Given the description of an element on the screen output the (x, y) to click on. 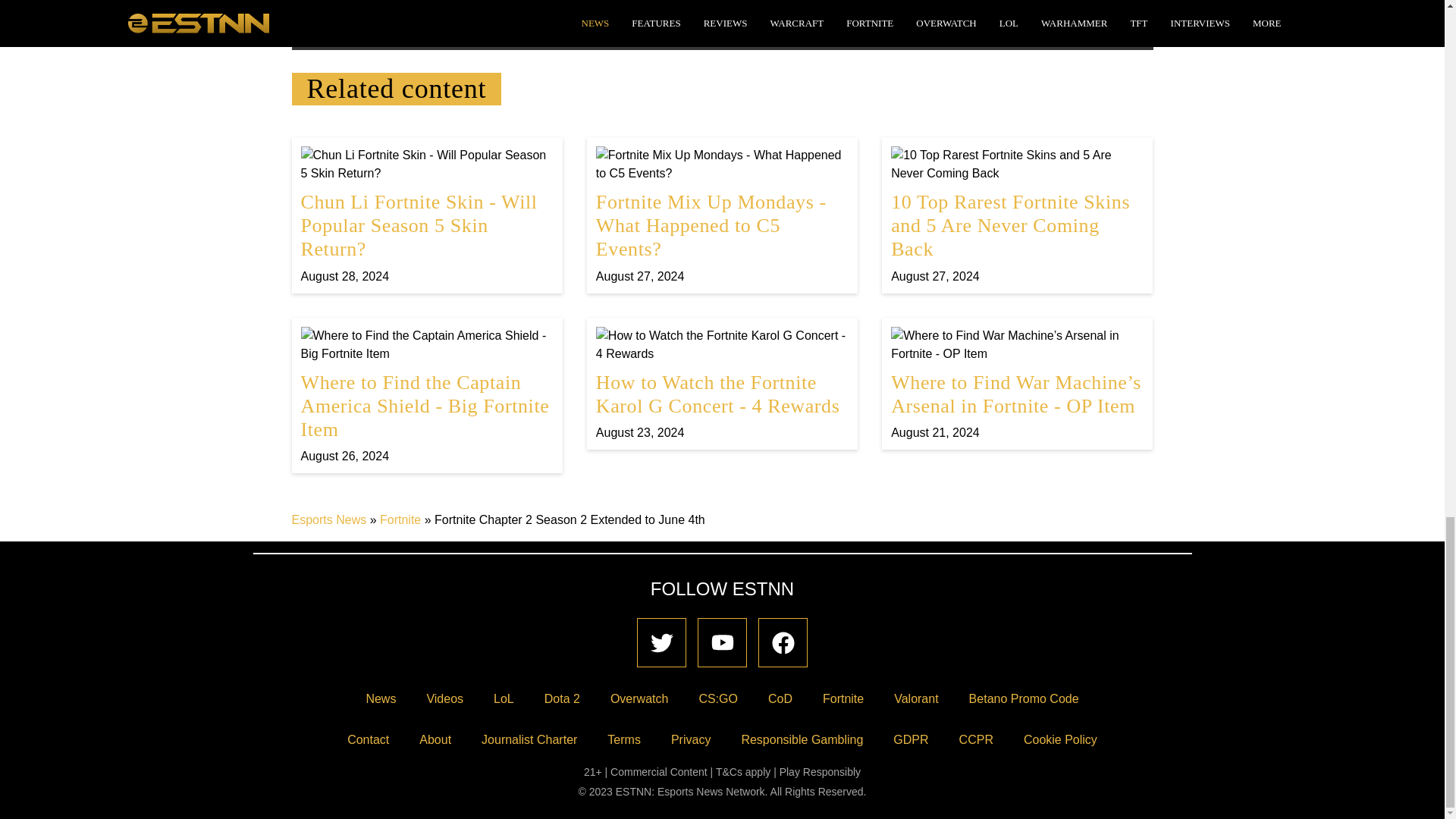
Fortnite Mix Up Mondays - What Happened to C5 Events? (721, 215)
Videos (444, 698)
Chun Li Fortnite Skin - Will Popular Season 5 Skin Return? (426, 215)
Where to Find the Captain America Shield - Big Fortnite Item (426, 395)
Esports News (328, 519)
News (380, 698)
